Given the description of an element on the screen output the (x, y) to click on. 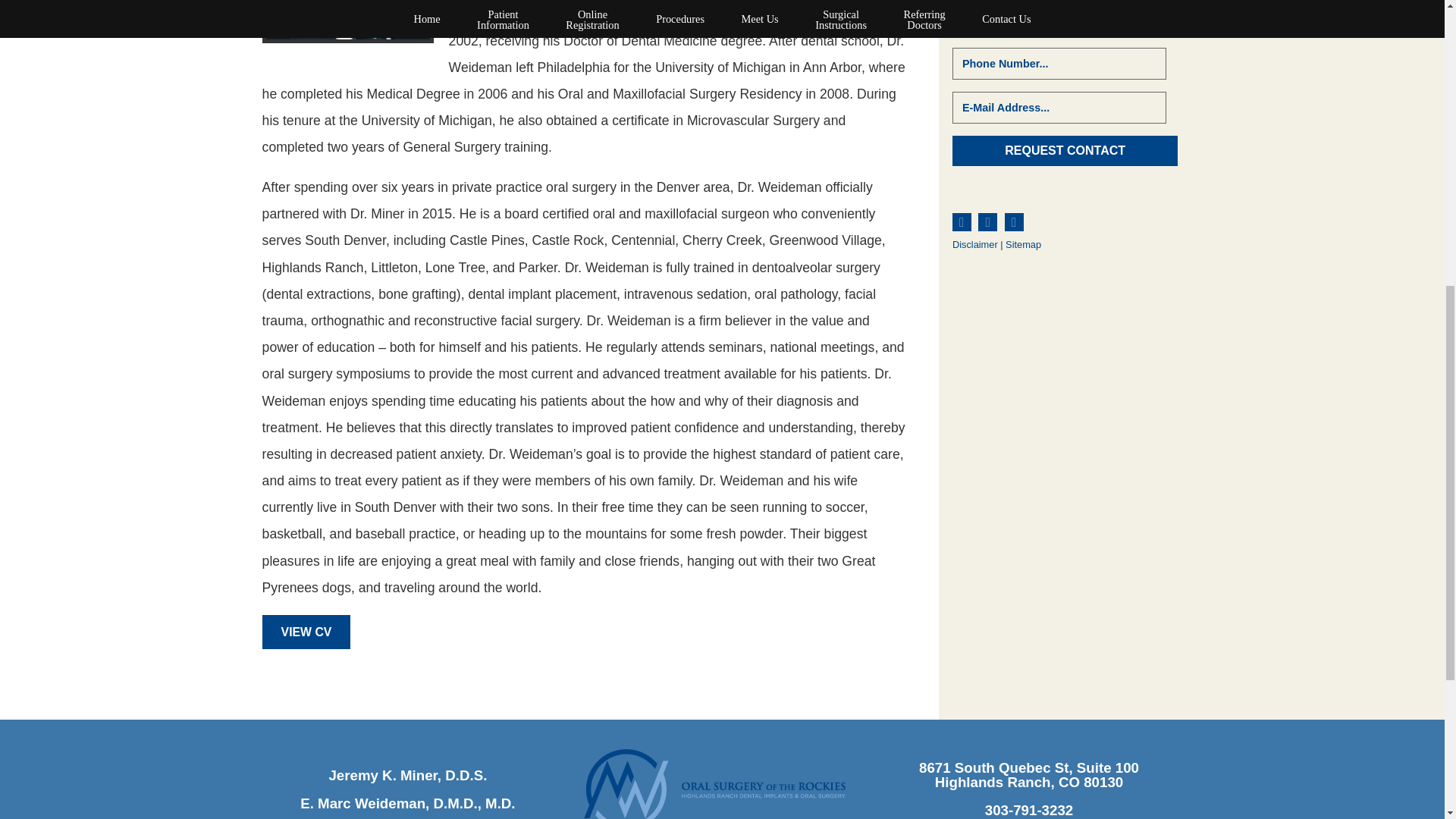
Request Contact (1064, 150)
